Given the description of an element on the screen output the (x, y) to click on. 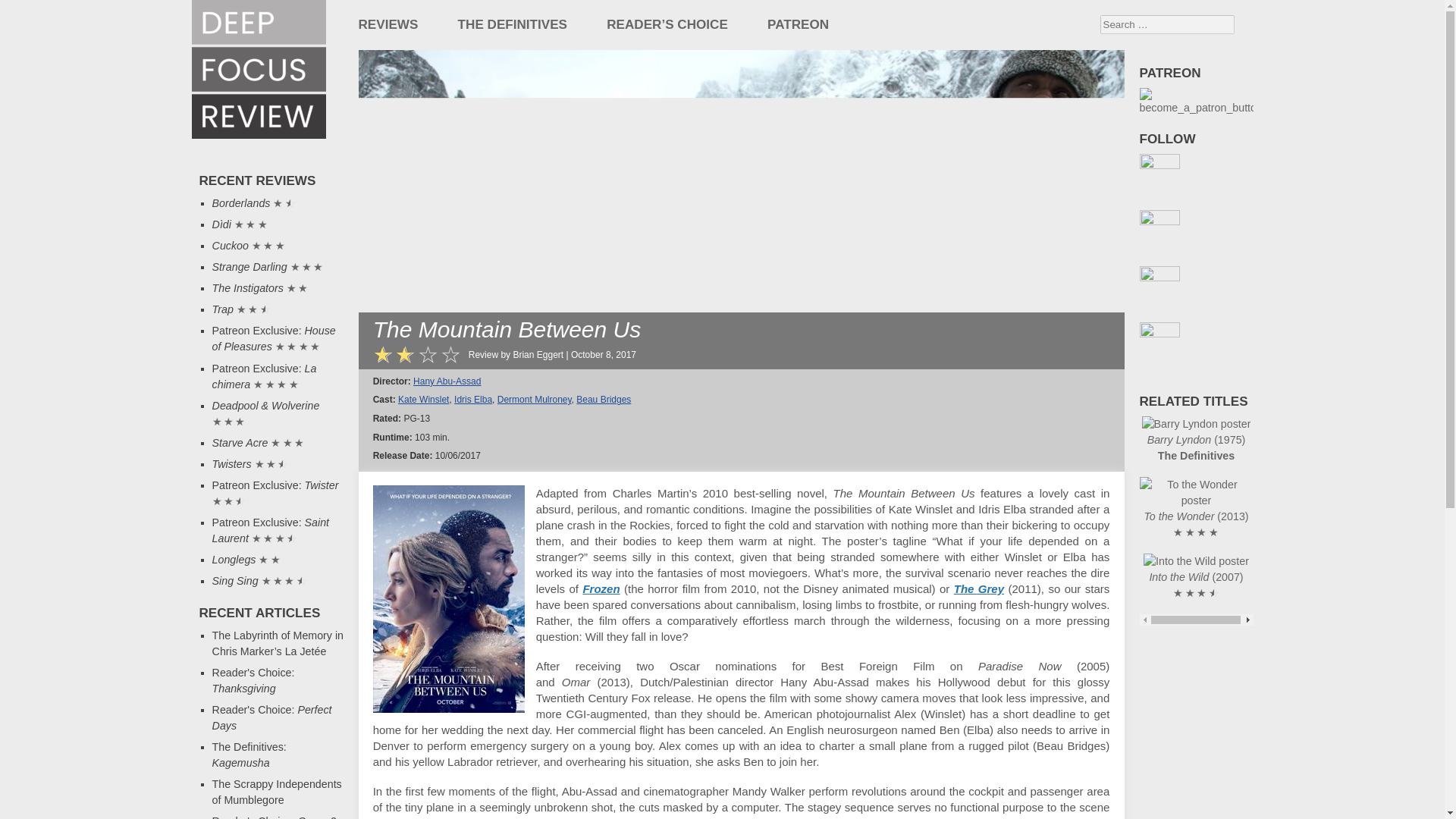
Hany Abu-Assad (446, 380)
THE DEFINITIVES (512, 24)
Dermont Mulroney (534, 398)
The Grey (978, 588)
Beau Bridges (603, 398)
REVIEWS (387, 24)
Frozen (601, 588)
Reader's Choice: Perfect Days (271, 717)
Reader's Choice: Thanksgiving (253, 680)
Idris Elba (473, 398)
